Given the description of an element on the screen output the (x, y) to click on. 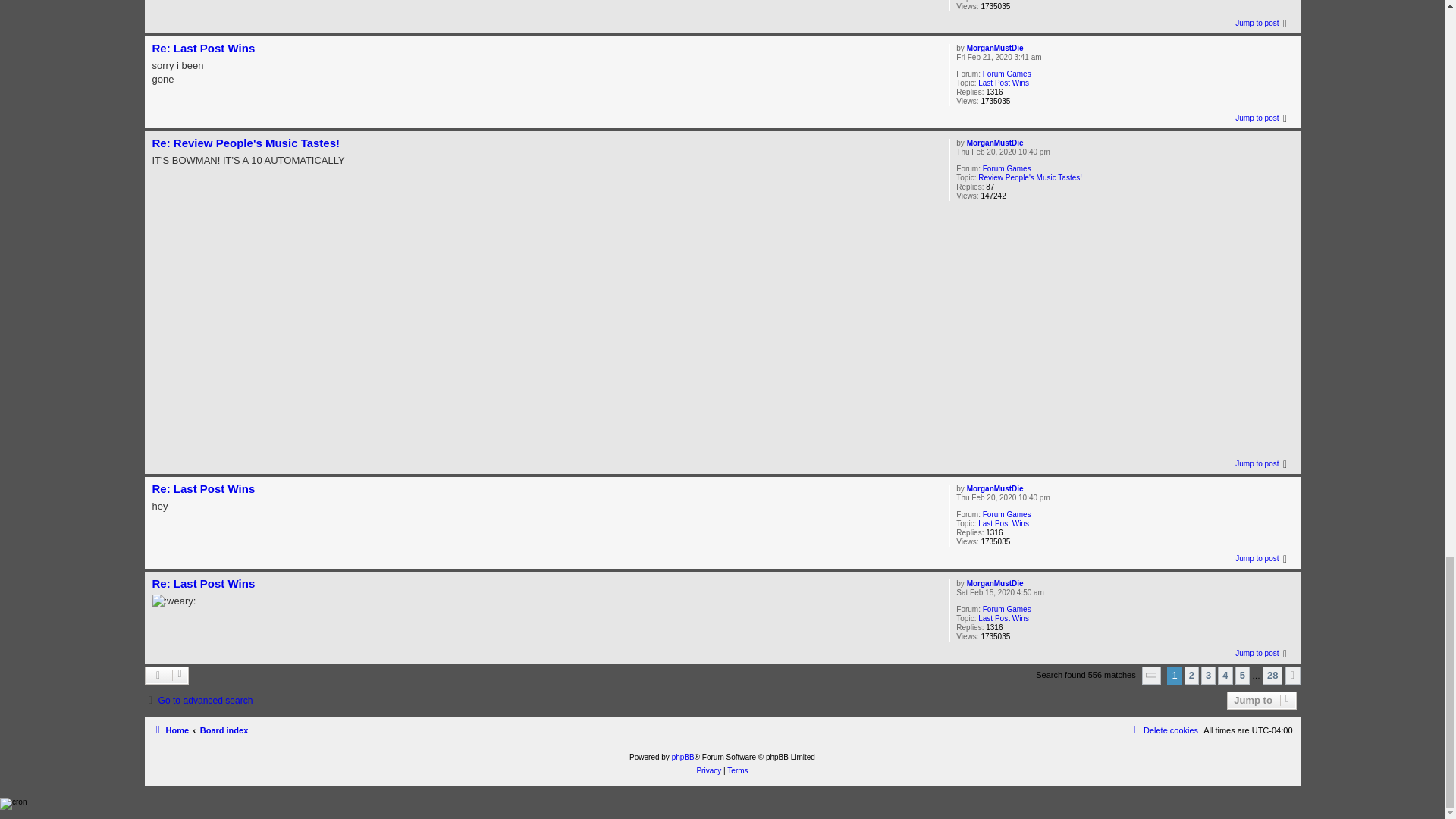
Display and sorting options (166, 675)
Advanced search (197, 701)
Jump to (1261, 700)
